Given the description of an element on the screen output the (x, y) to click on. 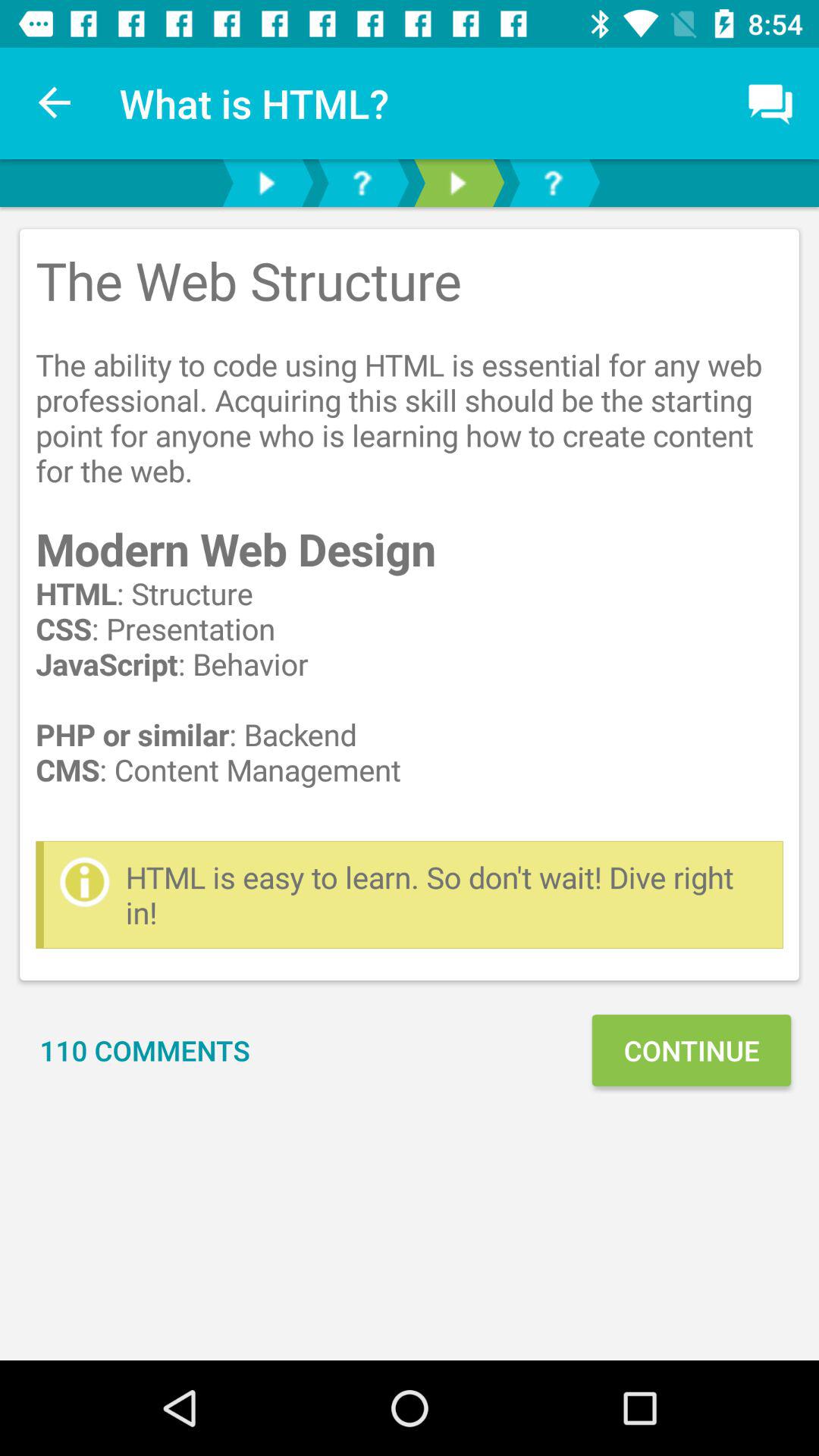
select the item next to the 110 comments icon (691, 1050)
